Given the description of an element on the screen output the (x, y) to click on. 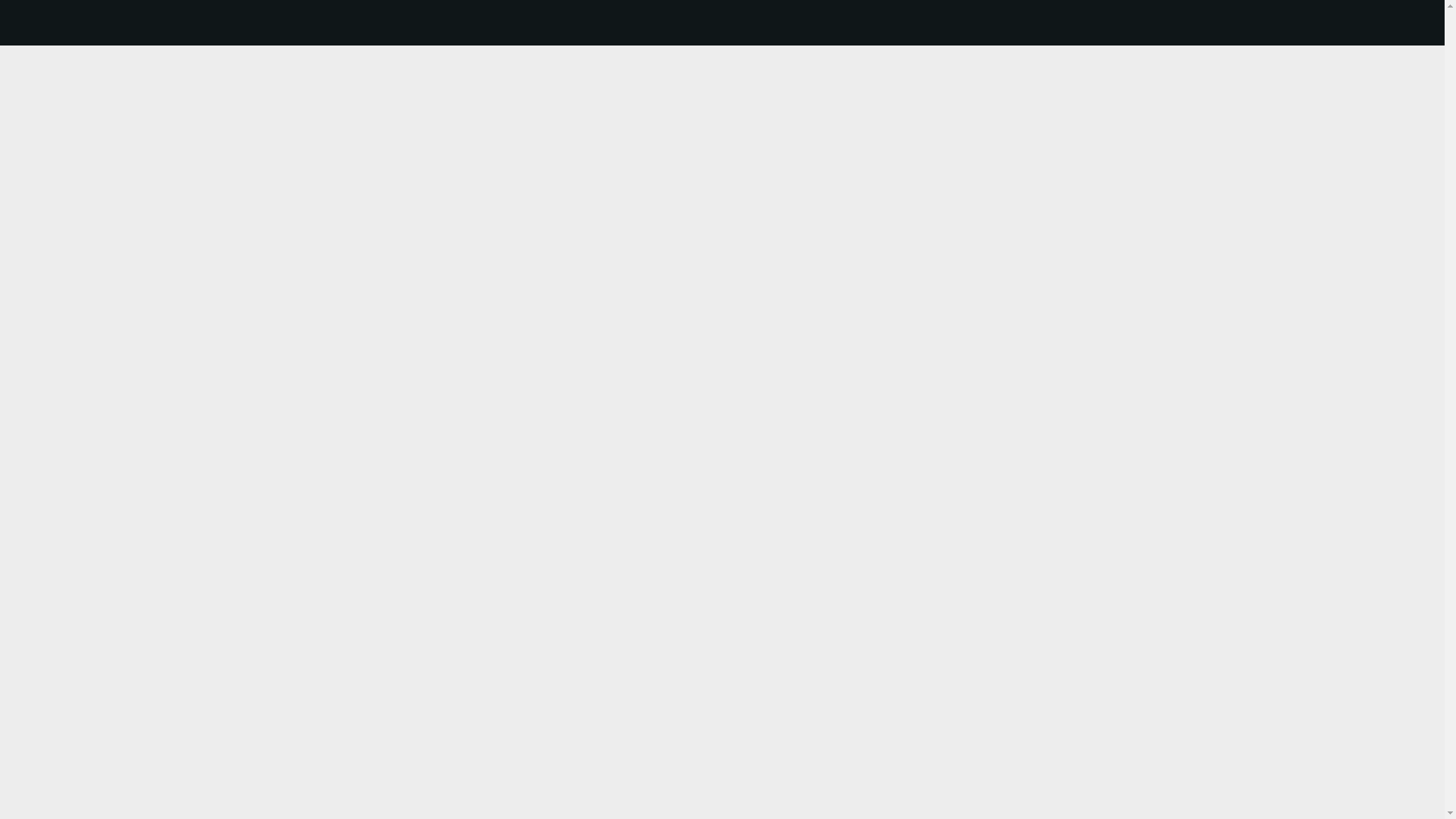
PC Gamer (429, 22)
